Given the description of an element on the screen output the (x, y) to click on. 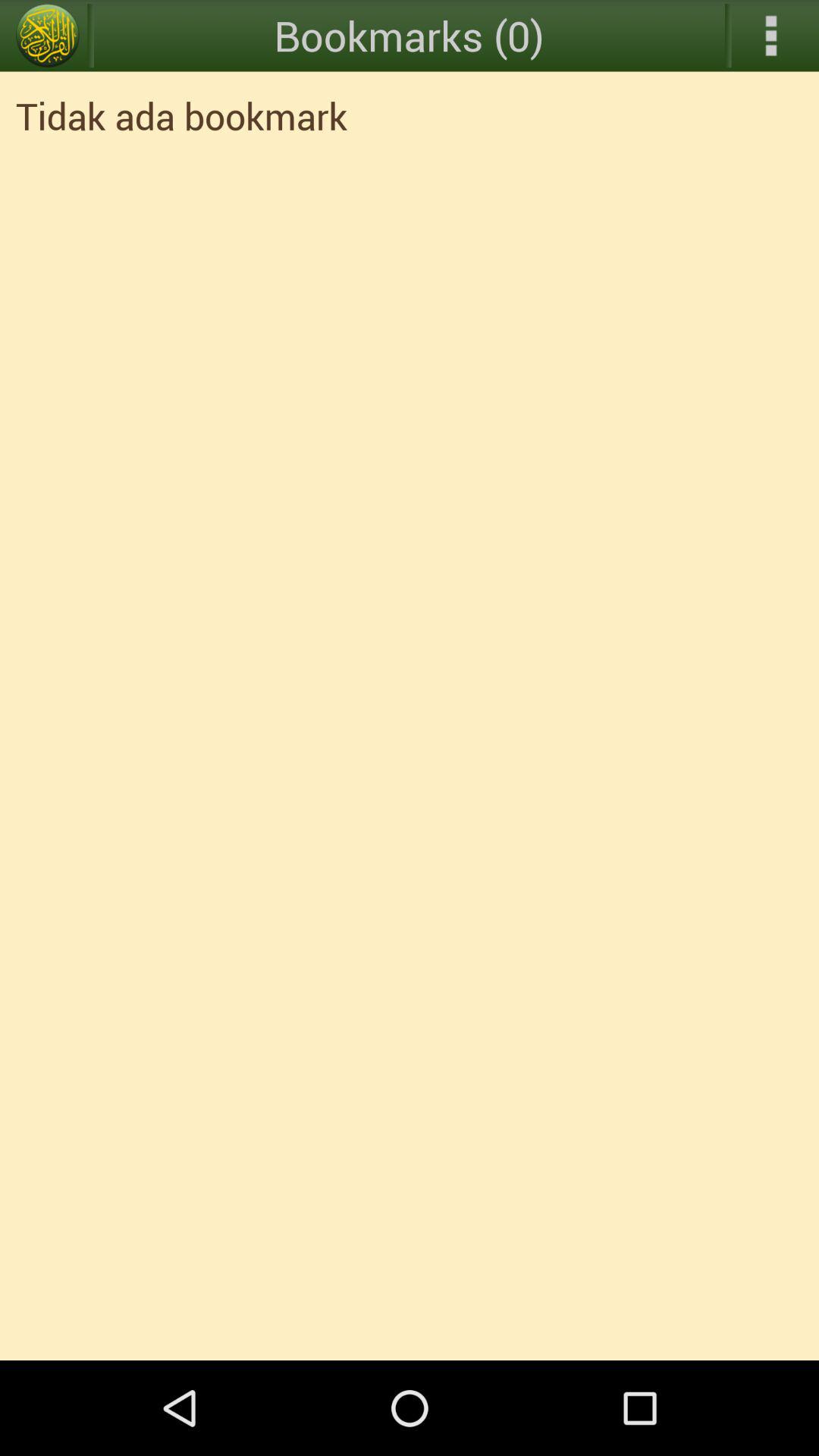
tap the icon above the tidak ada bookmark icon (771, 35)
